Given the description of an element on the screen output the (x, y) to click on. 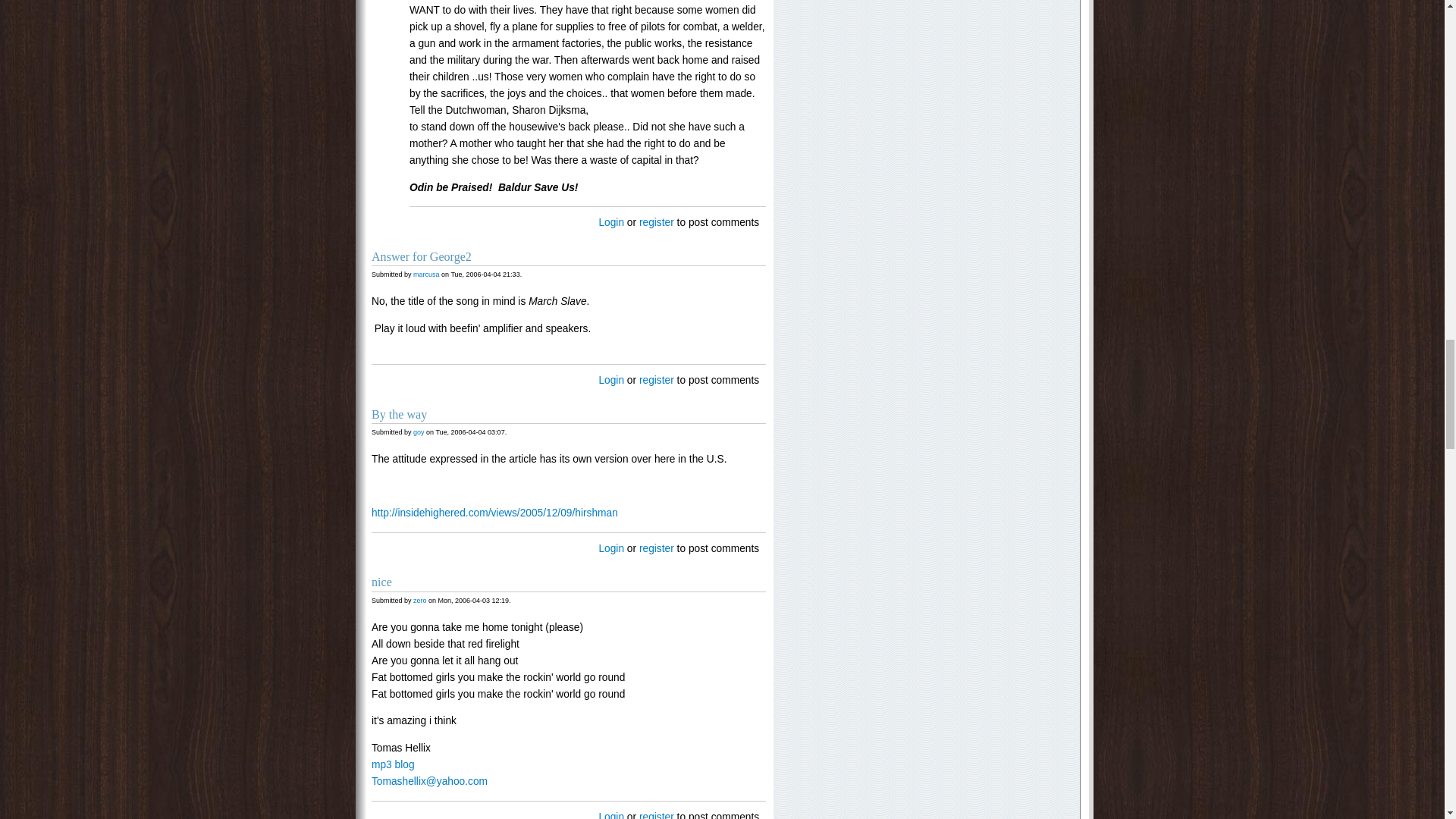
Login (611, 222)
register (656, 222)
Login (611, 379)
Answer for George2 (421, 256)
register (656, 379)
marcusa (426, 274)
By the way (398, 413)
